Given the description of an element on the screen output the (x, y) to click on. 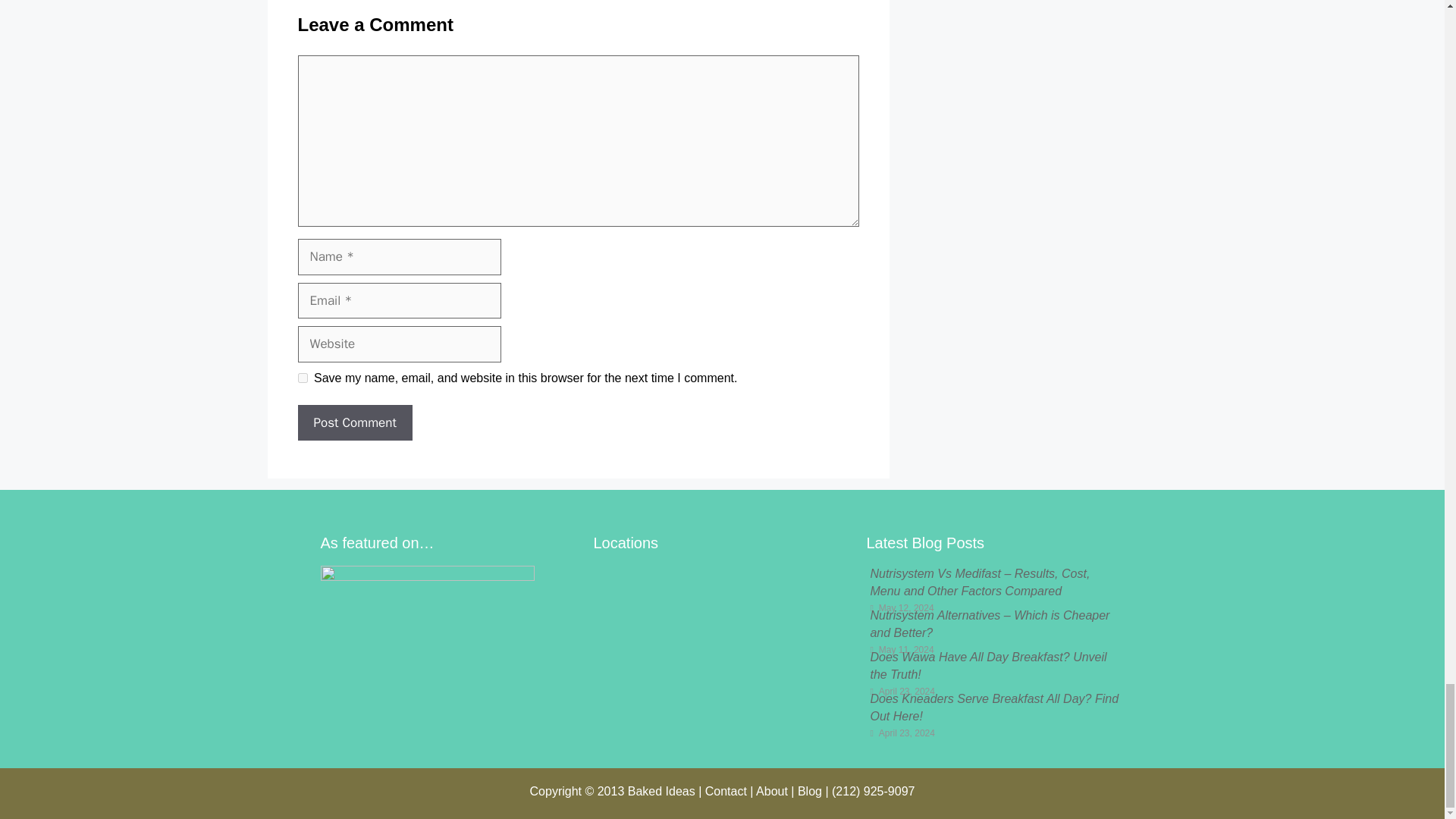
Post Comment (354, 422)
Does Wawa Have All Day Breakfast? Unveil the Truth! (987, 665)
London Eye, London, United Kingdom (721, 643)
Does Kneaders Serve Breakfast All Day? Find Out Here! (993, 706)
Baked Ideas (661, 790)
yes (302, 378)
